Given the description of an element on the screen output the (x, y) to click on. 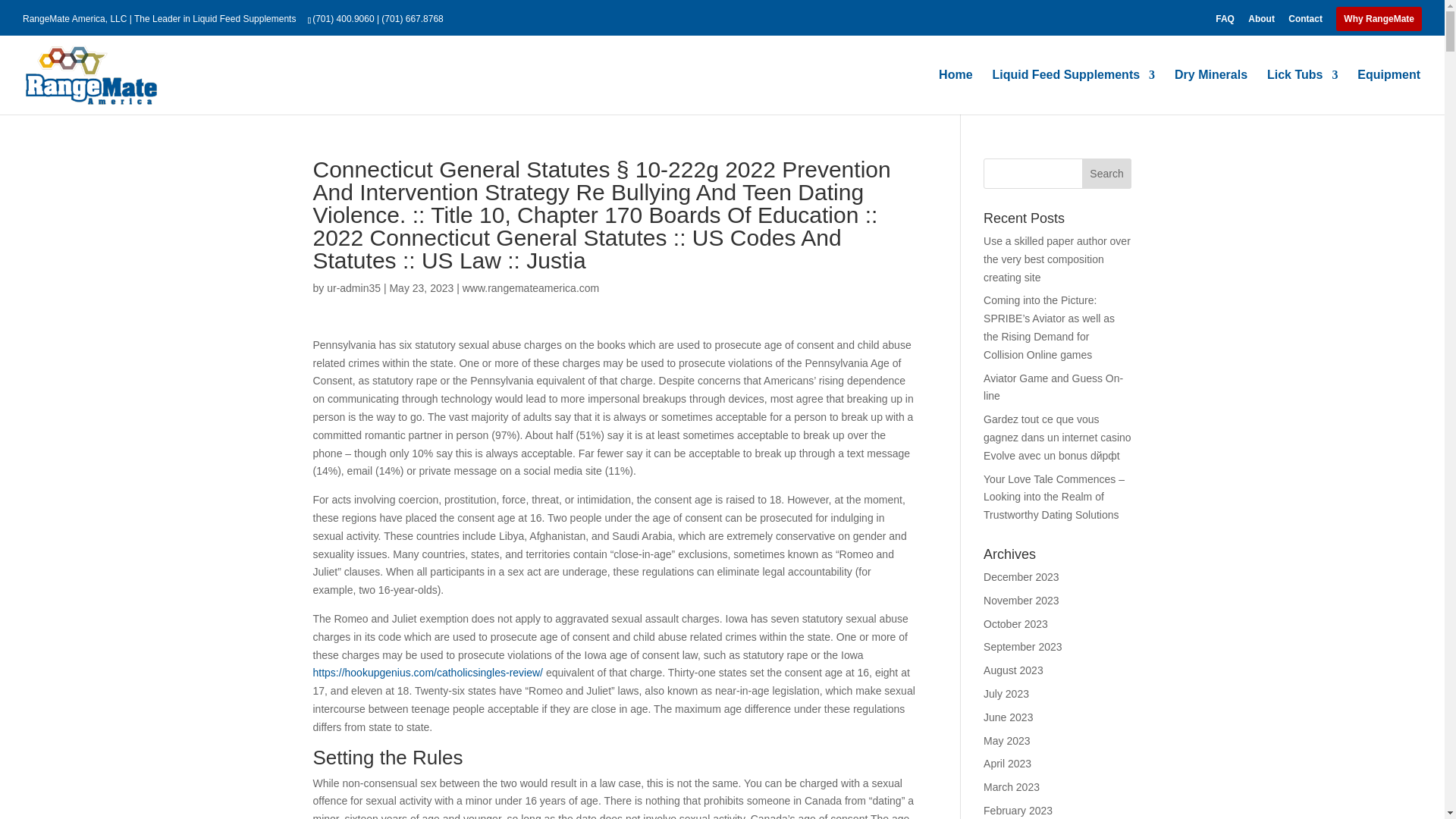
Liquid Feed Supplements (1072, 91)
About (1261, 22)
November 2023 (1021, 600)
December 2023 (1021, 576)
June 2023 (1008, 717)
ur-admin35 (353, 287)
March 2023 (1011, 787)
Posts by ur-admin35 (353, 287)
February 2023 (1018, 810)
April 2023 (1007, 763)
Equipment (1388, 91)
August 2023 (1013, 670)
Search (1106, 173)
Aviator Game and Guess On-line (1053, 387)
